Given the description of an element on the screen output the (x, y) to click on. 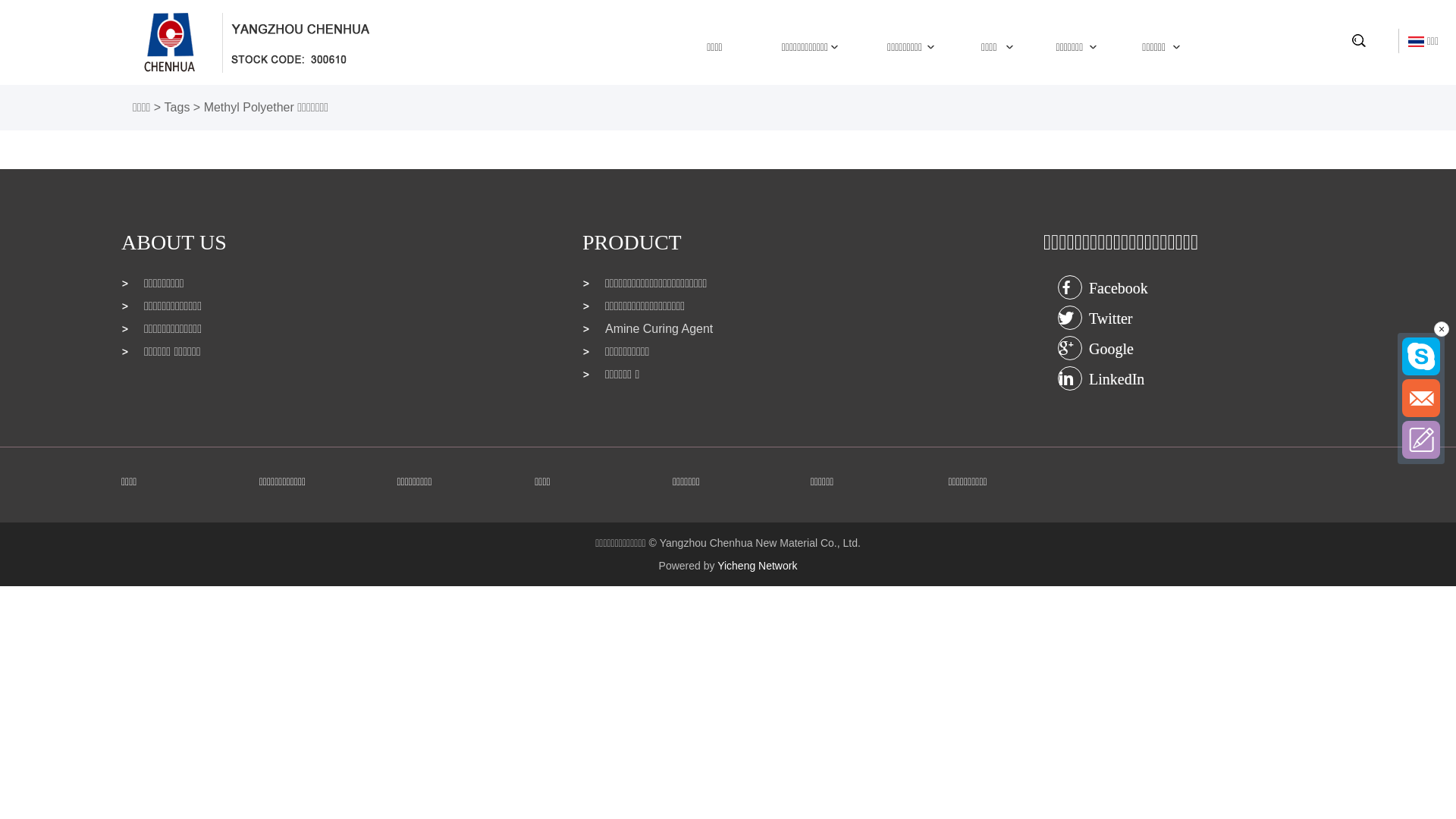
LinkedIn Element type: text (1069, 377)
Tags Element type: text (177, 106)
Amine Curing Agent Element type: text (727, 327)
Twitter Element type: text (1069, 316)
Google Element type: text (1069, 347)
Facebook Element type: text (1069, 286)
Yicheng Network Element type: text (757, 565)
